Given the description of an element on the screen output the (x, y) to click on. 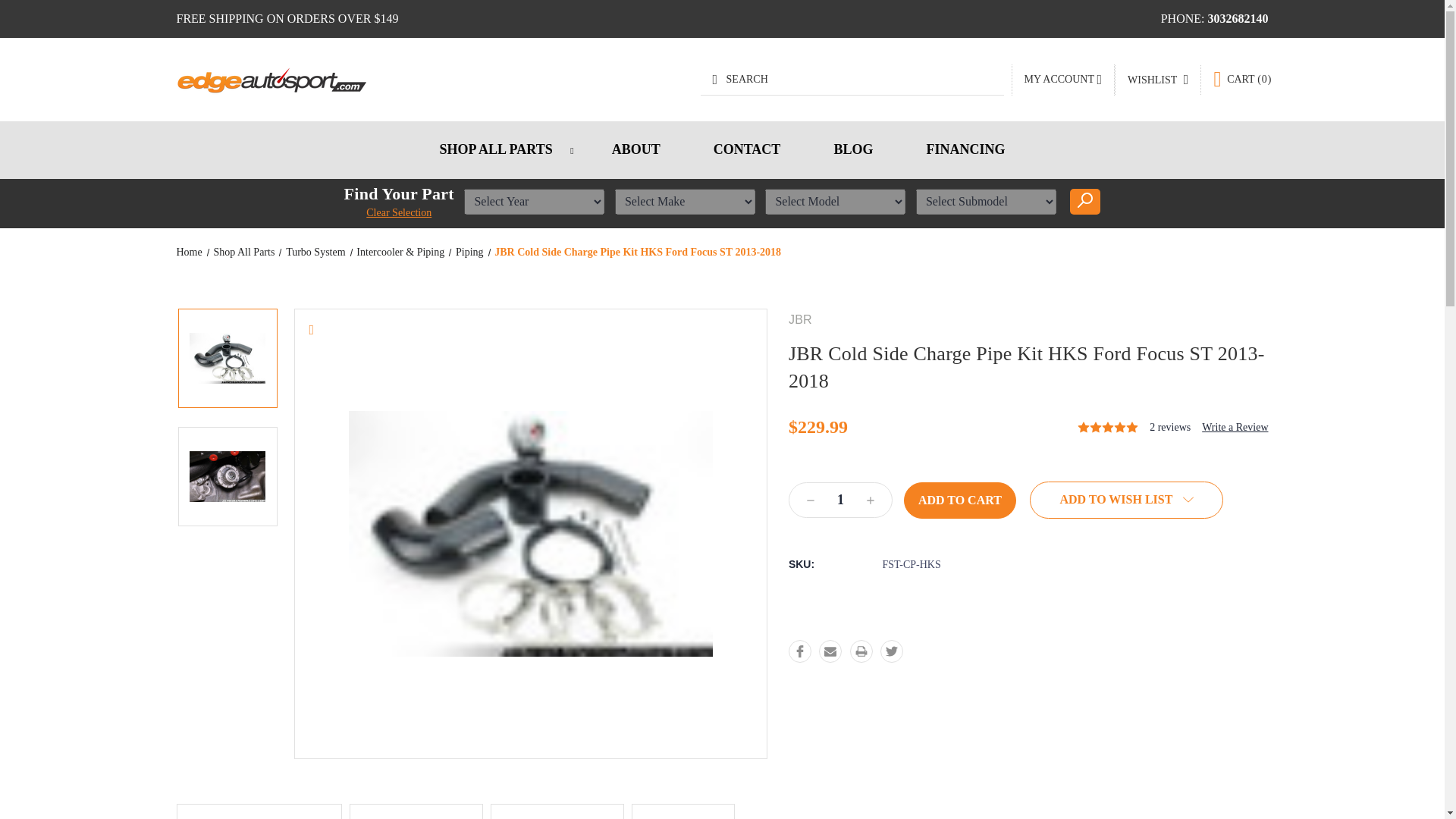
EdgeAutosport.com (270, 79)
CONTACT (747, 149)
SHOP ALL PARTS (499, 149)
SEARCH (852, 79)
1 (840, 499)
CART 0 (1241, 79)
JBR Cold Side Charge Pipe Kit HKS Ford Focus ST 2013-2018 (530, 533)
FINANCING (964, 149)
3032682140 (1237, 18)
MY ACCOUNT (1062, 79)
